Given the description of an element on the screen output the (x, y) to click on. 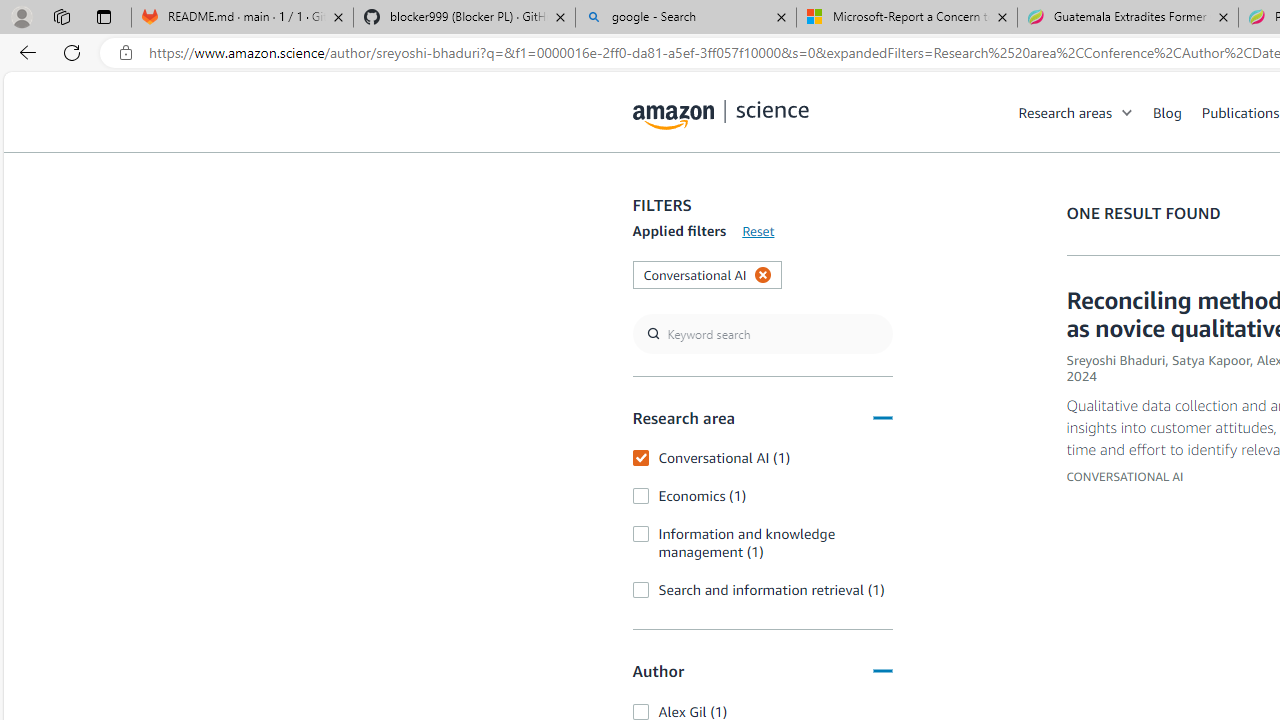
Blog (1177, 111)
amazon-science-logo.svg (721, 115)
Publications (1240, 111)
Blog (1167, 111)
